Given the description of an element on the screen output the (x, y) to click on. 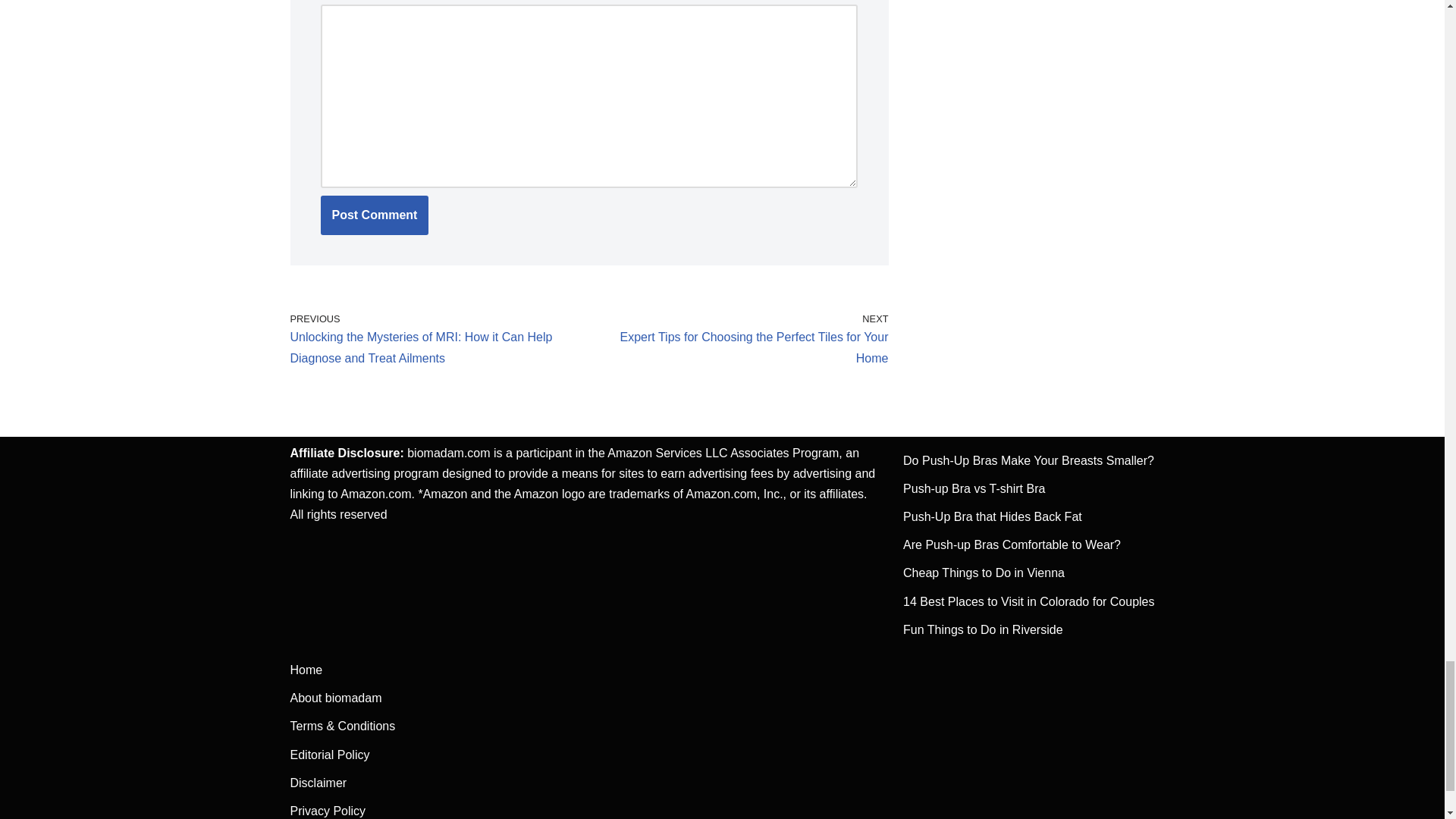
Post Comment (374, 215)
Post Comment (374, 215)
